Given the description of an element on the screen output the (x, y) to click on. 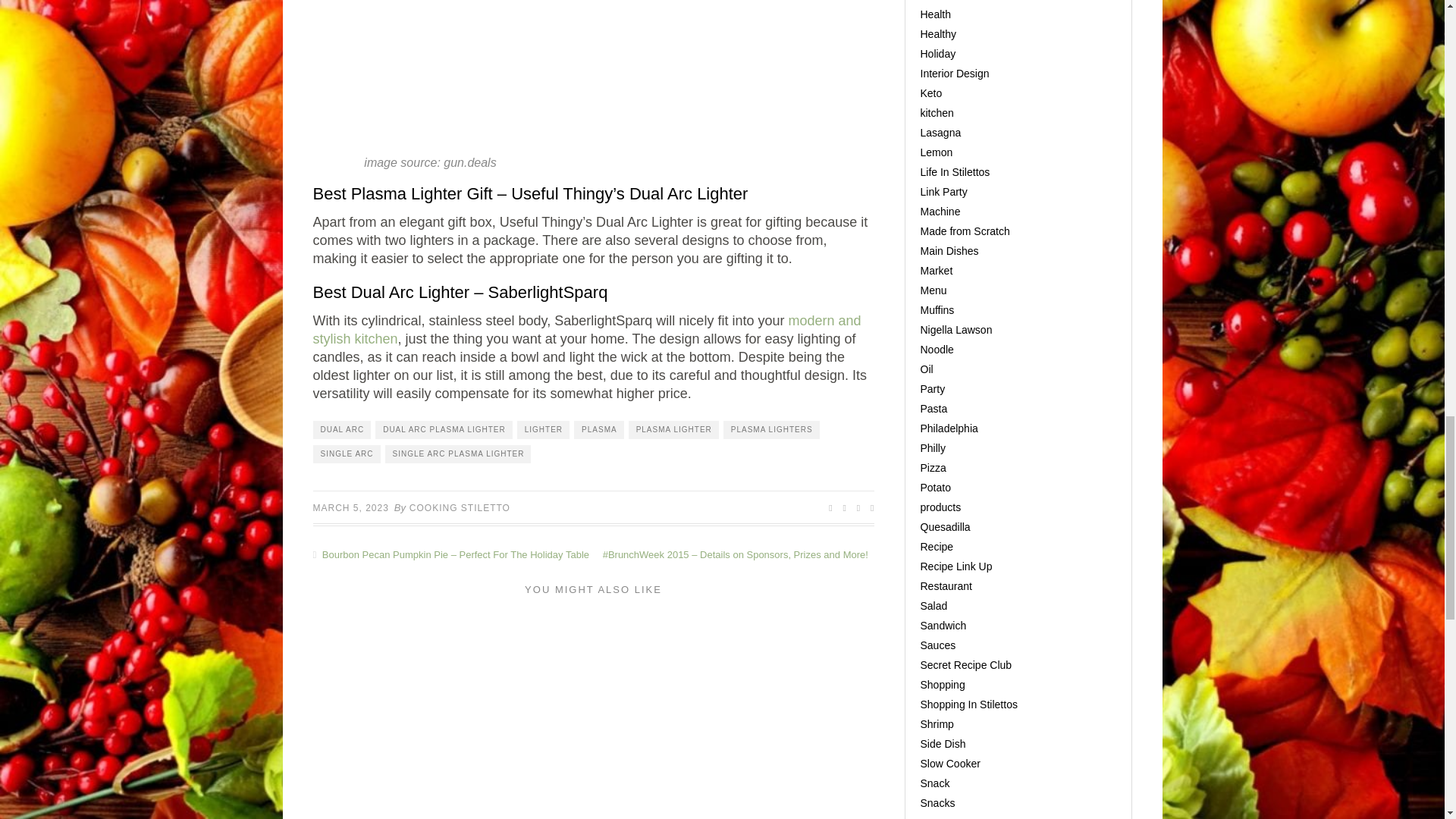
modern and stylish kitchen (586, 329)
LIGHTER (542, 429)
SINGLE ARC (346, 454)
SINGLE ARC PLASMA LIGHTER (458, 454)
PLASMA LIGHTERS (771, 429)
PLASMA (598, 429)
DUAL ARC PLASMA LIGHTER (443, 429)
PLASMA LIGHTER (673, 429)
Posts by Cooking Stiletto (460, 507)
COOKING STILETTO (460, 507)
MARCH 5, 2023 (350, 507)
DUAL ARC (342, 429)
